Given the description of an element on the screen output the (x, y) to click on. 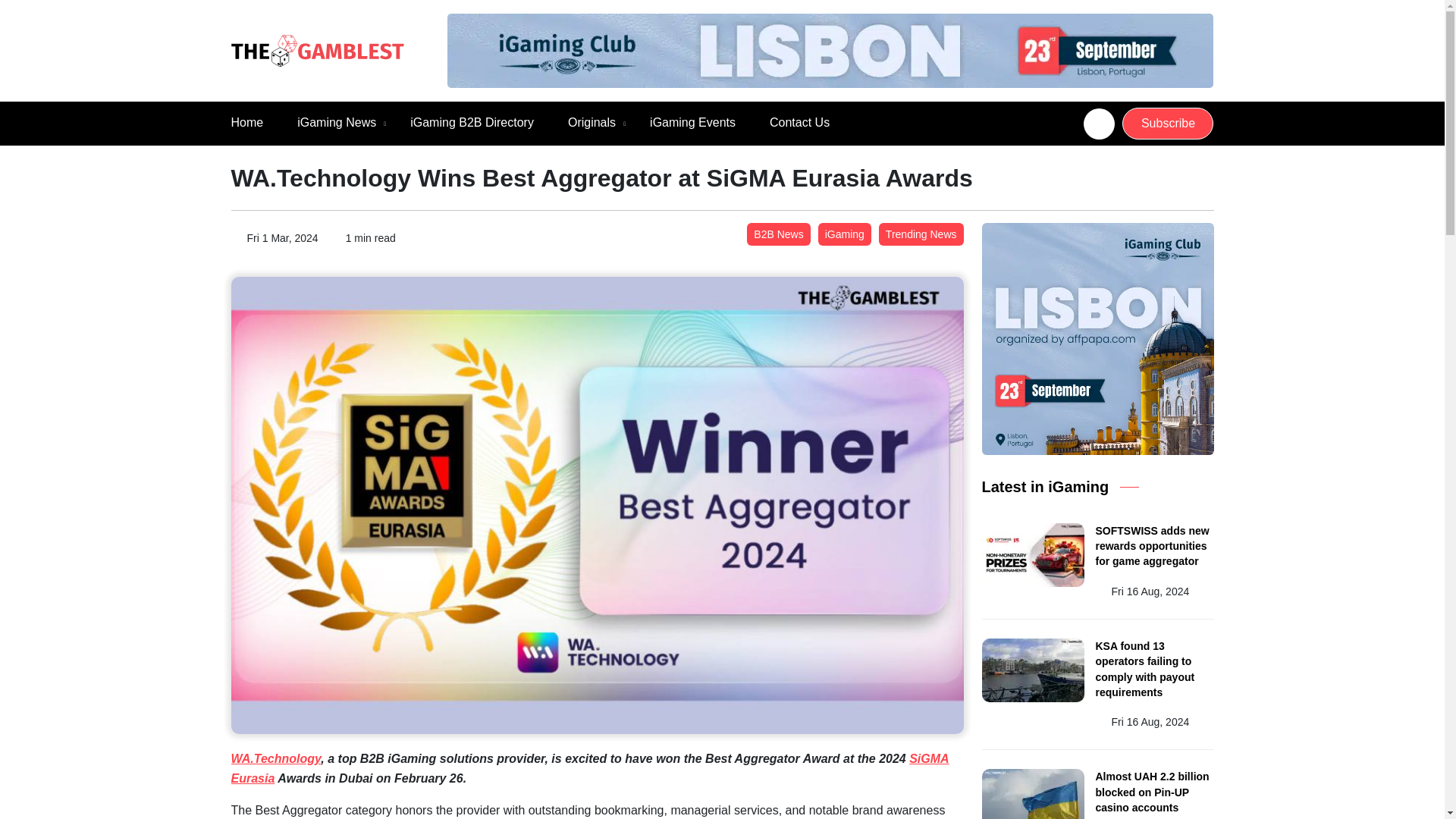
iGaming (844, 233)
Contact Us (799, 123)
Originals (591, 123)
IGaming B2B Directory (472, 123)
Trending News (921, 233)
WA.Technology (275, 758)
B2B News (777, 233)
iGaming News (336, 123)
Contact Us (799, 123)
iGaming B2B Directory (472, 123)
